Given the description of an element on the screen output the (x, y) to click on. 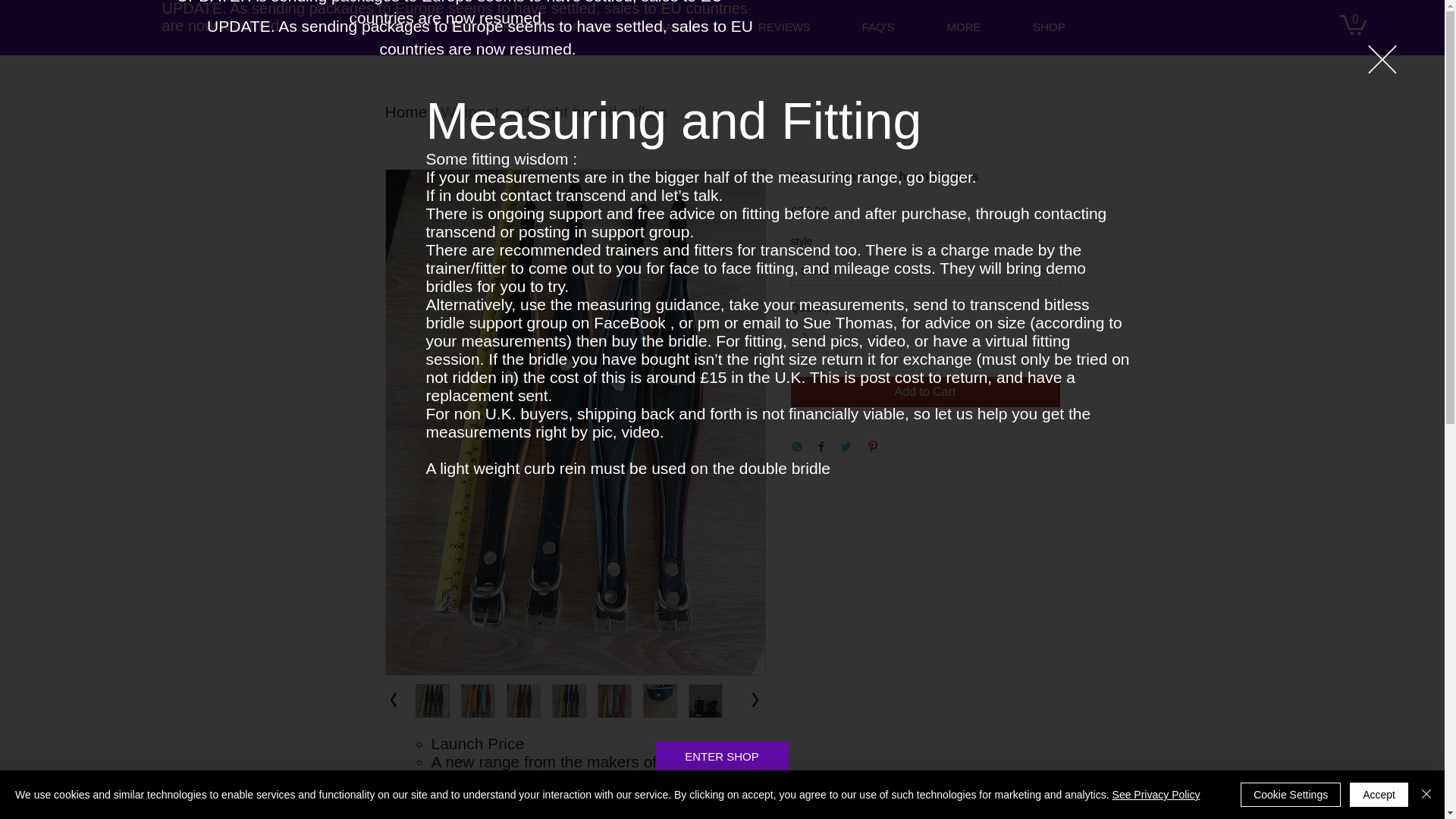
REVIEWS (784, 27)
Whippet and sight hound collars (553, 111)
GALLERY (681, 27)
Home (406, 111)
MORE (963, 27)
1 (818, 336)
HOME (386, 27)
Select (924, 270)
Add to Cart (924, 391)
TRANSCEND BITLESS RANGE (530, 27)
